Given the description of an element on the screen output the (x, y) to click on. 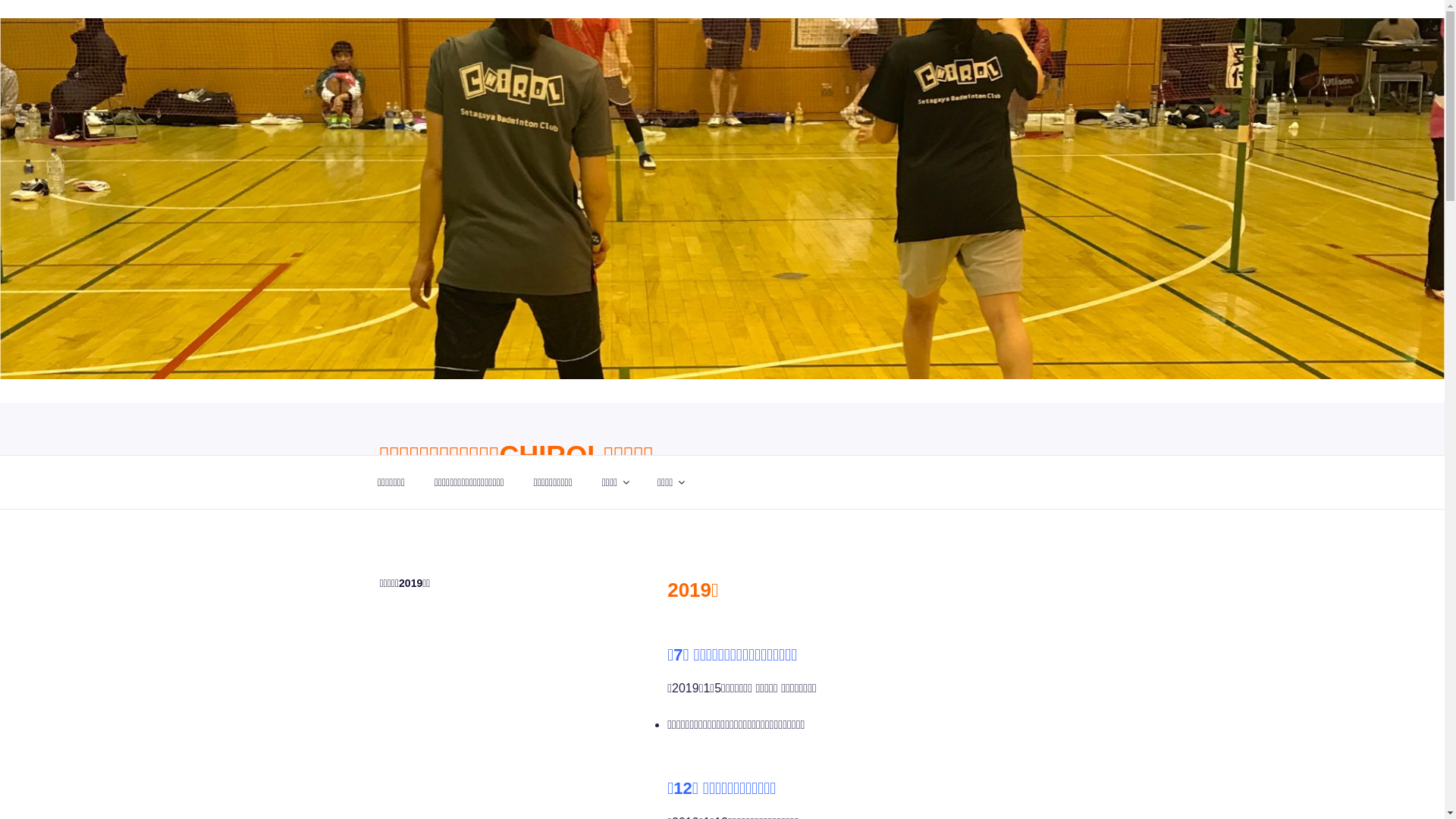
IMG_2994_edited7 Element type: hover (722, 198)
